Given the description of an element on the screen output the (x, y) to click on. 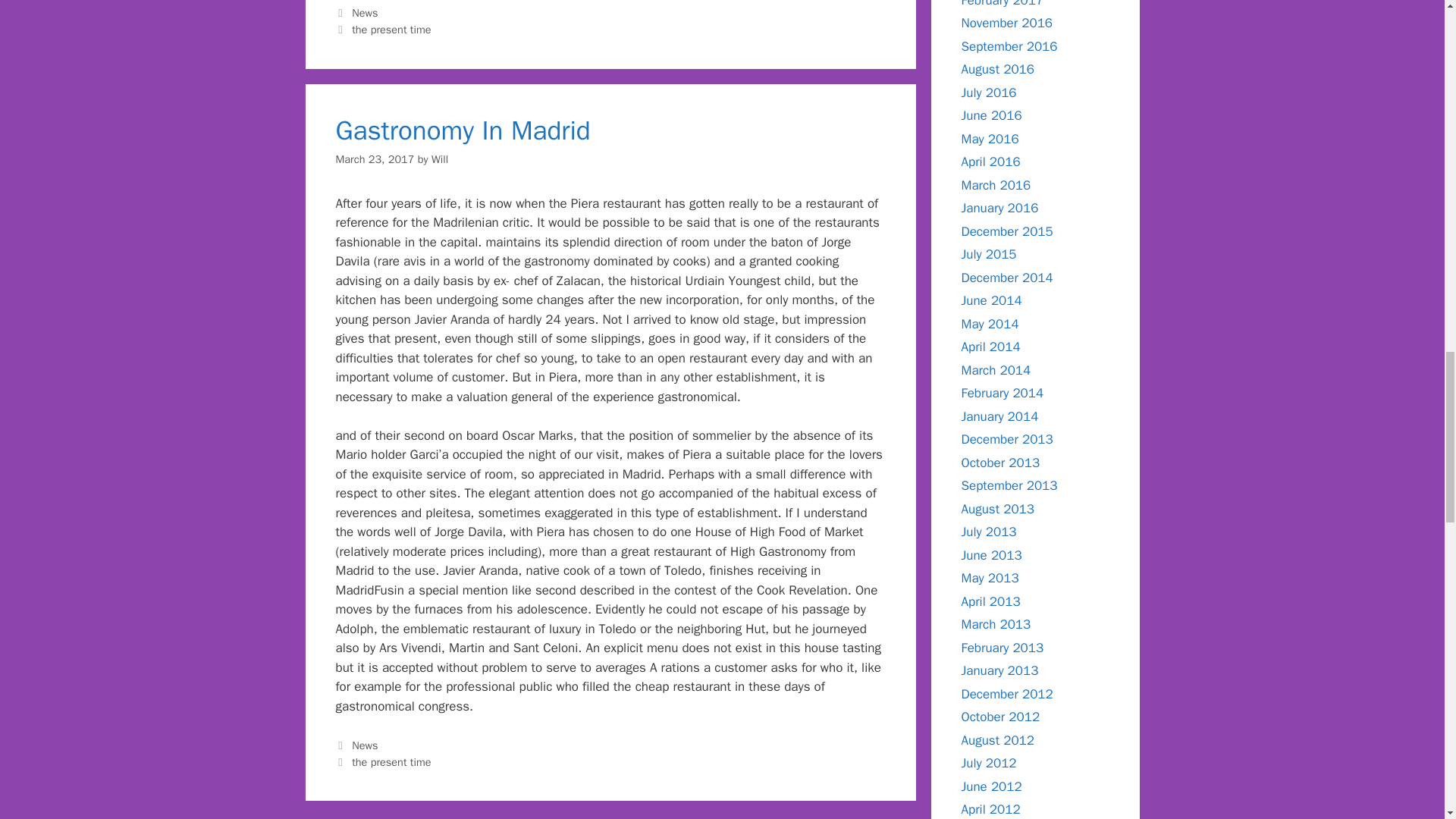
Will (439, 159)
News (364, 12)
the present time (391, 762)
the present time (391, 29)
View all posts by Will (439, 159)
Gastronomy In Madrid (461, 130)
News (364, 745)
